Given the description of an element on the screen output the (x, y) to click on. 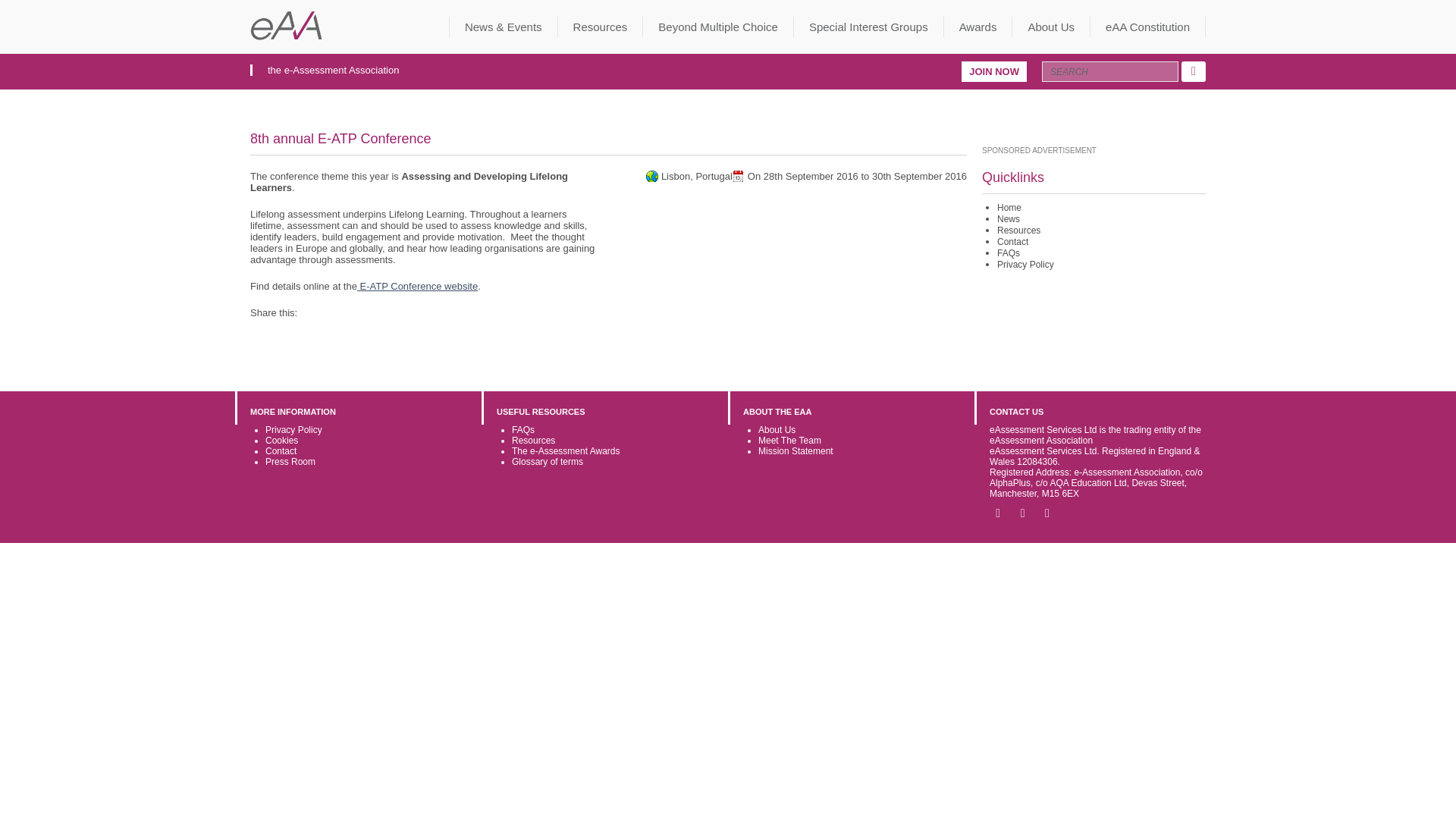
About Us (1050, 26)
Resources (600, 26)
Beyond Multiple Choice (718, 26)
JOIN NOW (993, 71)
Awards (978, 26)
eAA Constitution (1147, 26)
Special Interest Groups (868, 26)
